Given the description of an element on the screen output the (x, y) to click on. 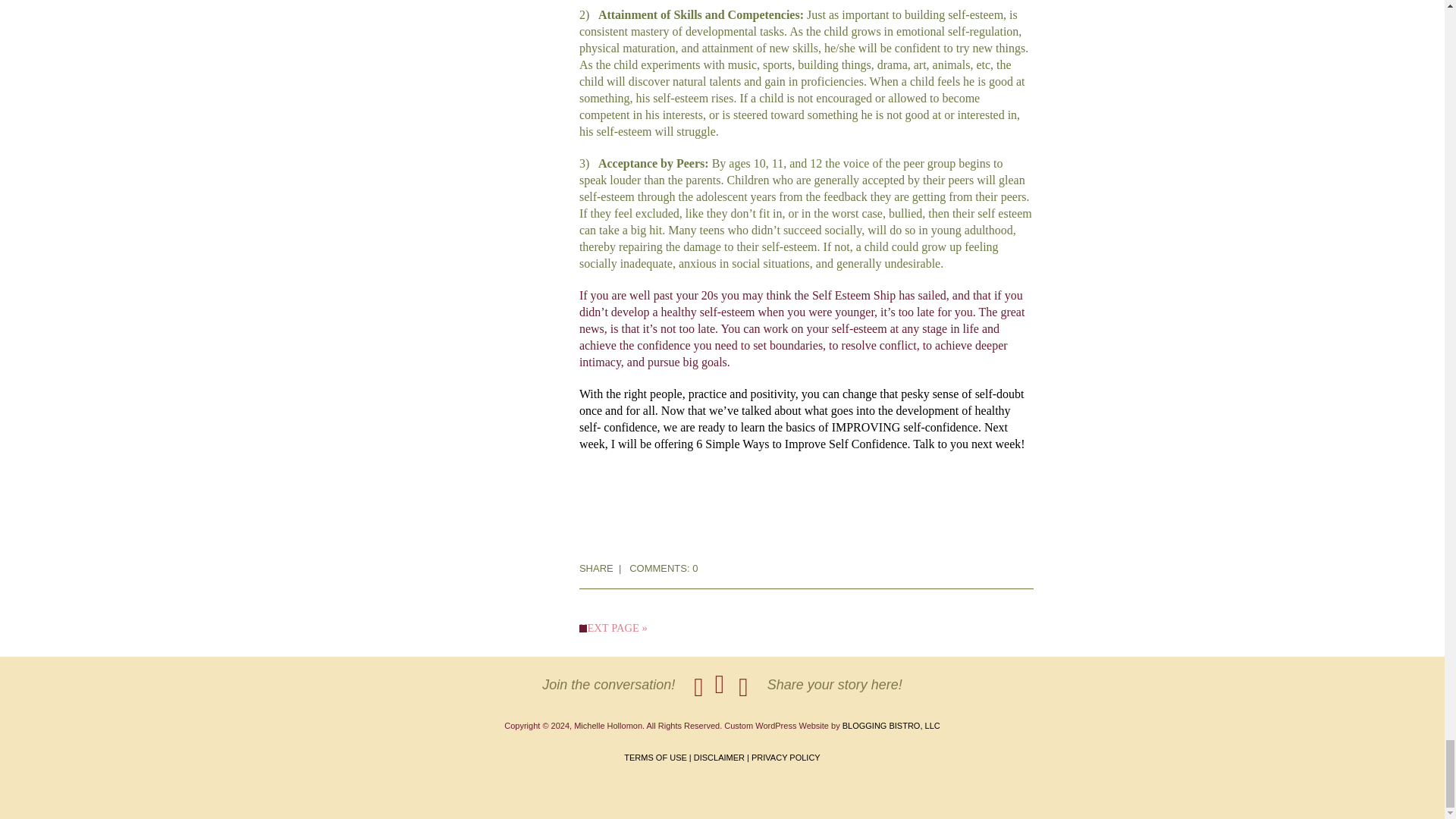
SHARE (595, 568)
COMMENTS: 0 (662, 568)
